Given the description of an element on the screen output the (x, y) to click on. 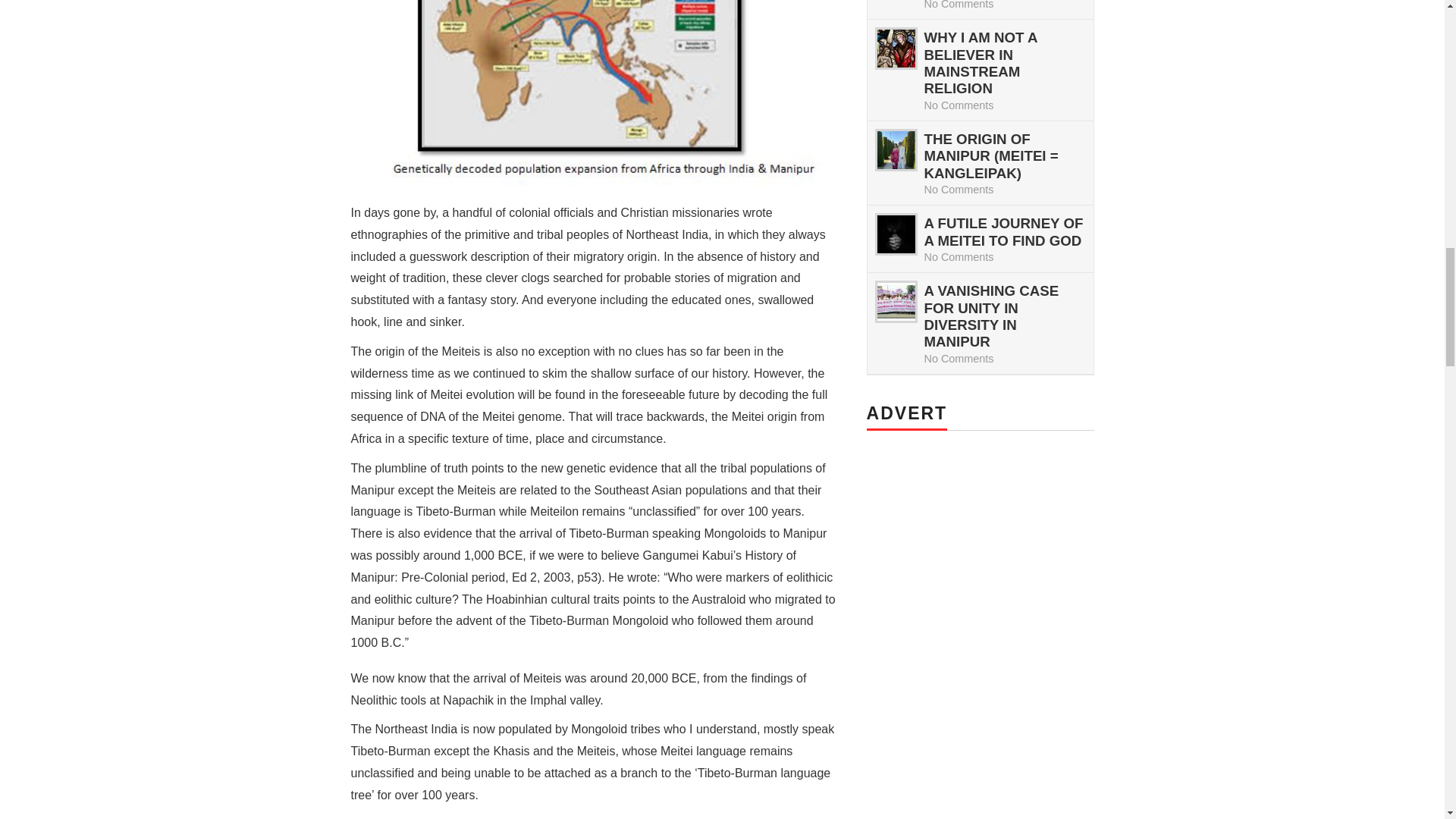
Why I Am Not A Believer In Mainstream Religion (895, 48)
